Given the description of an element on the screen output the (x, y) to click on. 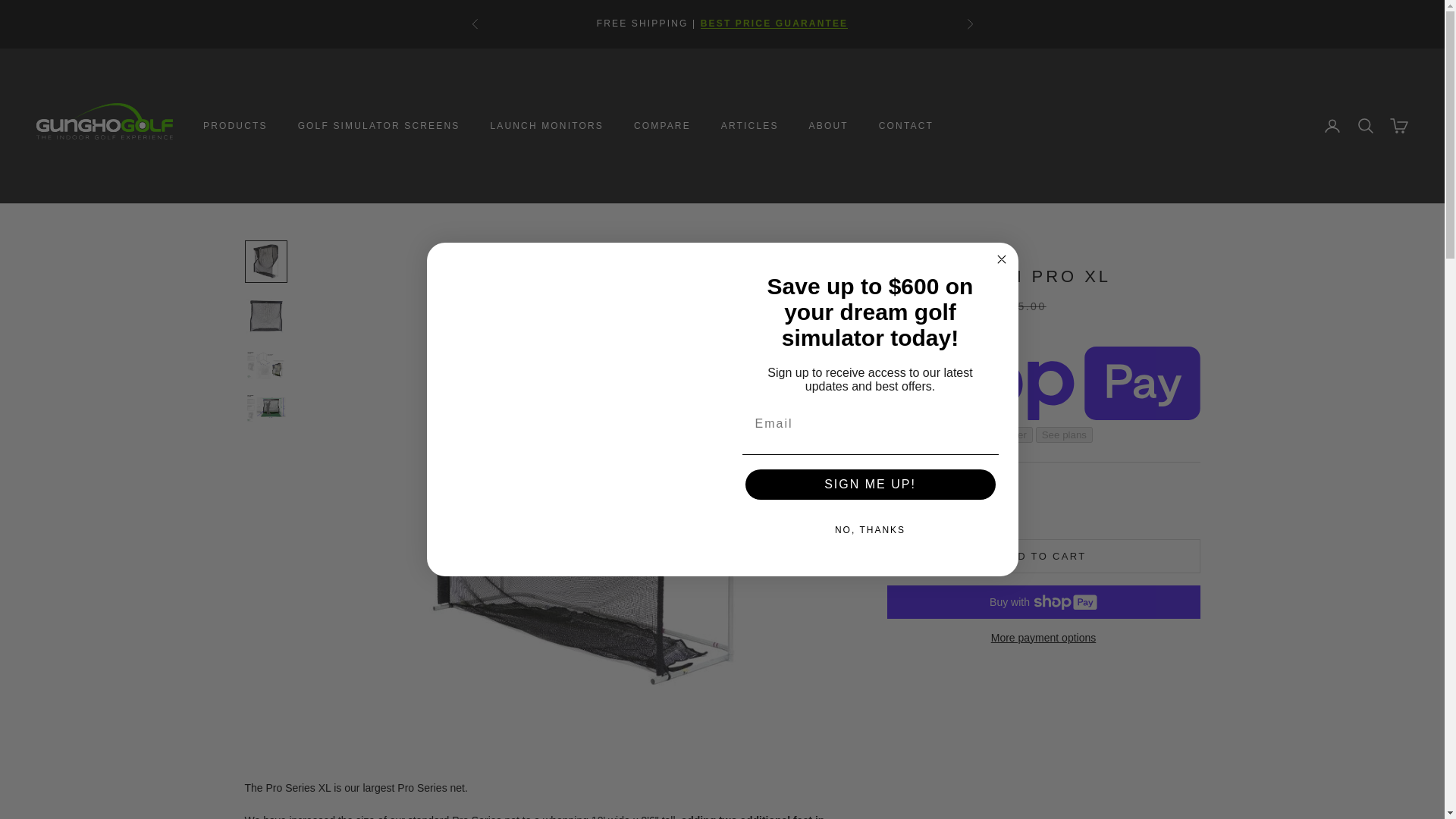
About Us (774, 23)
BEST PRICE GUARANTEE (774, 23)
1 (935, 497)
Gungho Golf (104, 126)
